Given the description of an element on the screen output the (x, y) to click on. 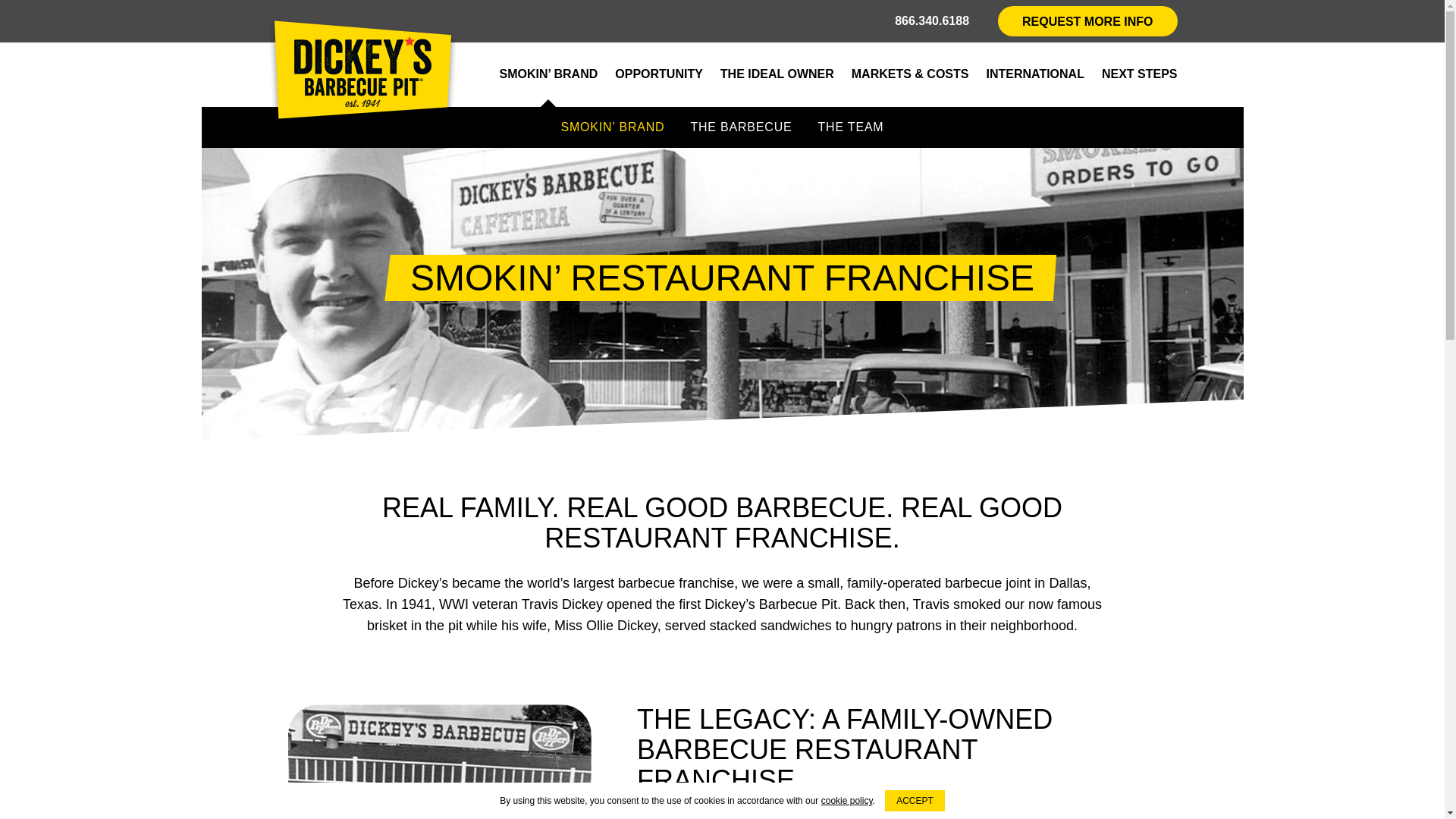
866.340.6188 (932, 21)
THE IDEAL OWNER (777, 74)
Privacy Policy (846, 800)
THE BARBECUE (741, 127)
INTERNATIONAL (1034, 74)
THE TEAM (850, 127)
NEXT STEPS (1139, 74)
REQUEST MORE INFO (1086, 20)
OPPORTUNITY (658, 74)
